Given the description of an element on the screen output the (x, y) to click on. 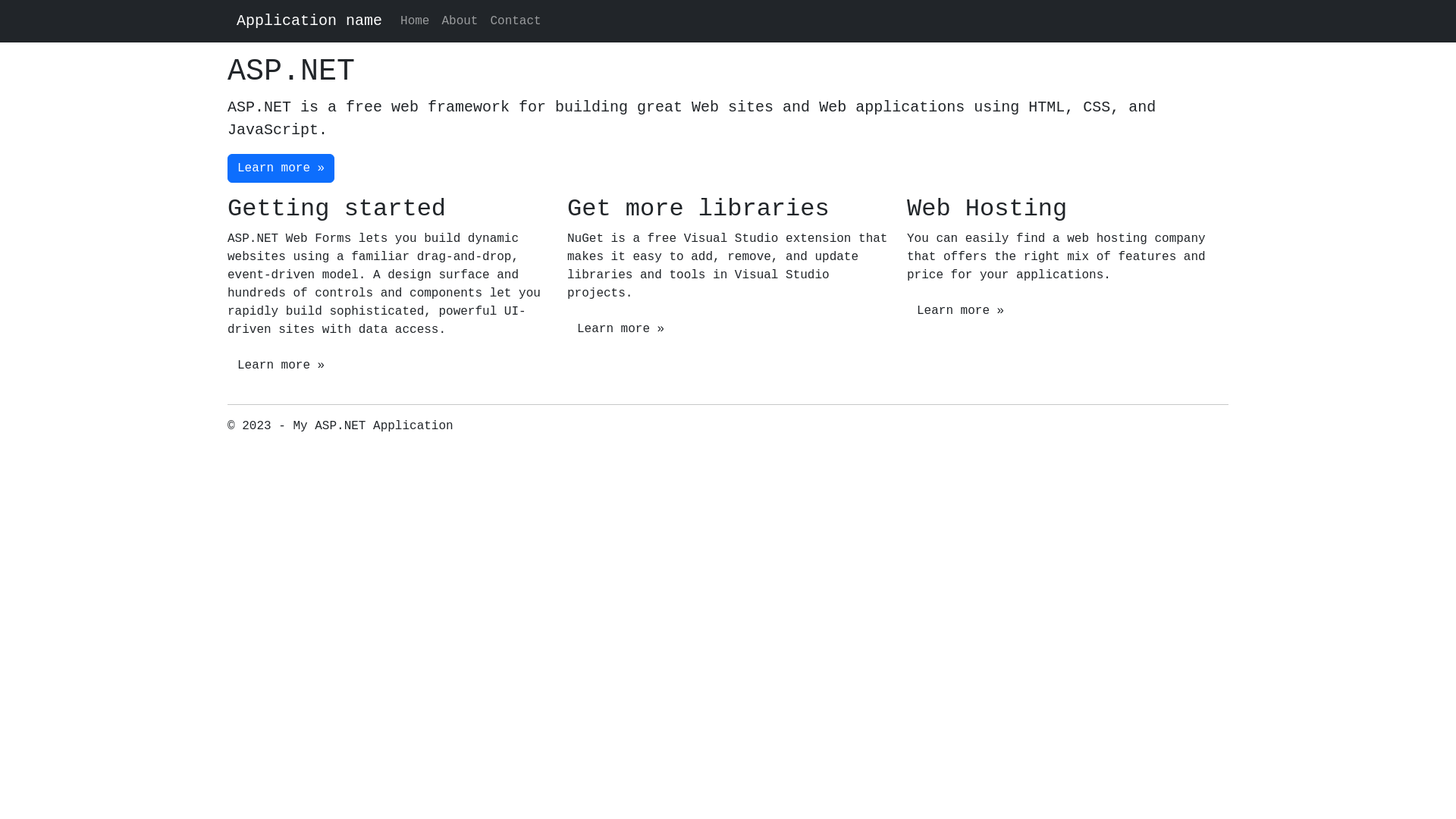
Contact Element type: text (514, 21)
Application name Element type: text (309, 21)
Home Element type: text (414, 21)
About Element type: text (459, 21)
